Given the description of an element on the screen output the (x, y) to click on. 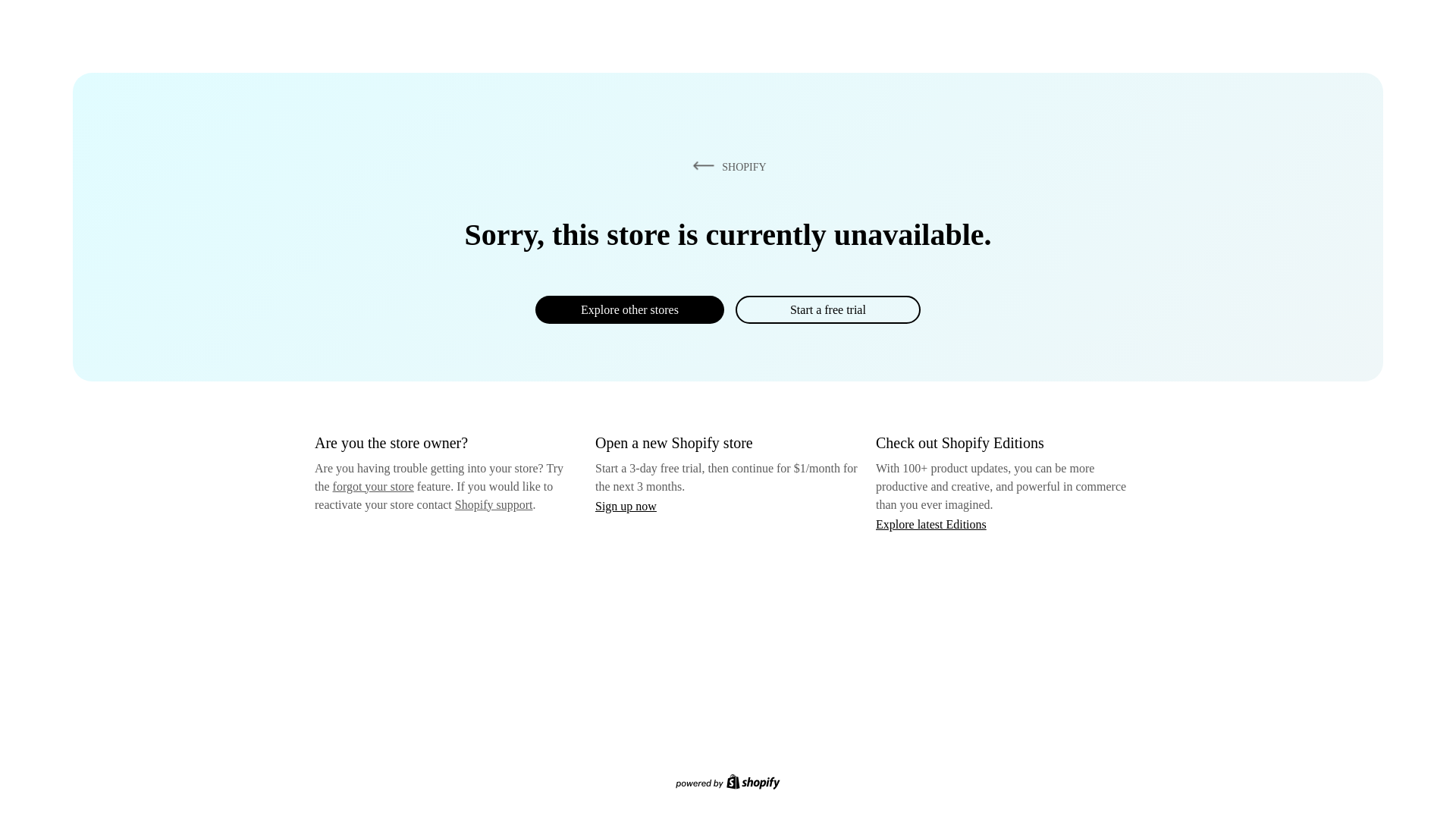
Sign up now (625, 505)
Explore latest Editions (931, 523)
Start a free trial (827, 309)
SHOPIFY (726, 166)
Shopify support (493, 504)
Explore other stores (629, 309)
forgot your store (373, 486)
